Given the description of an element on the screen output the (x, y) to click on. 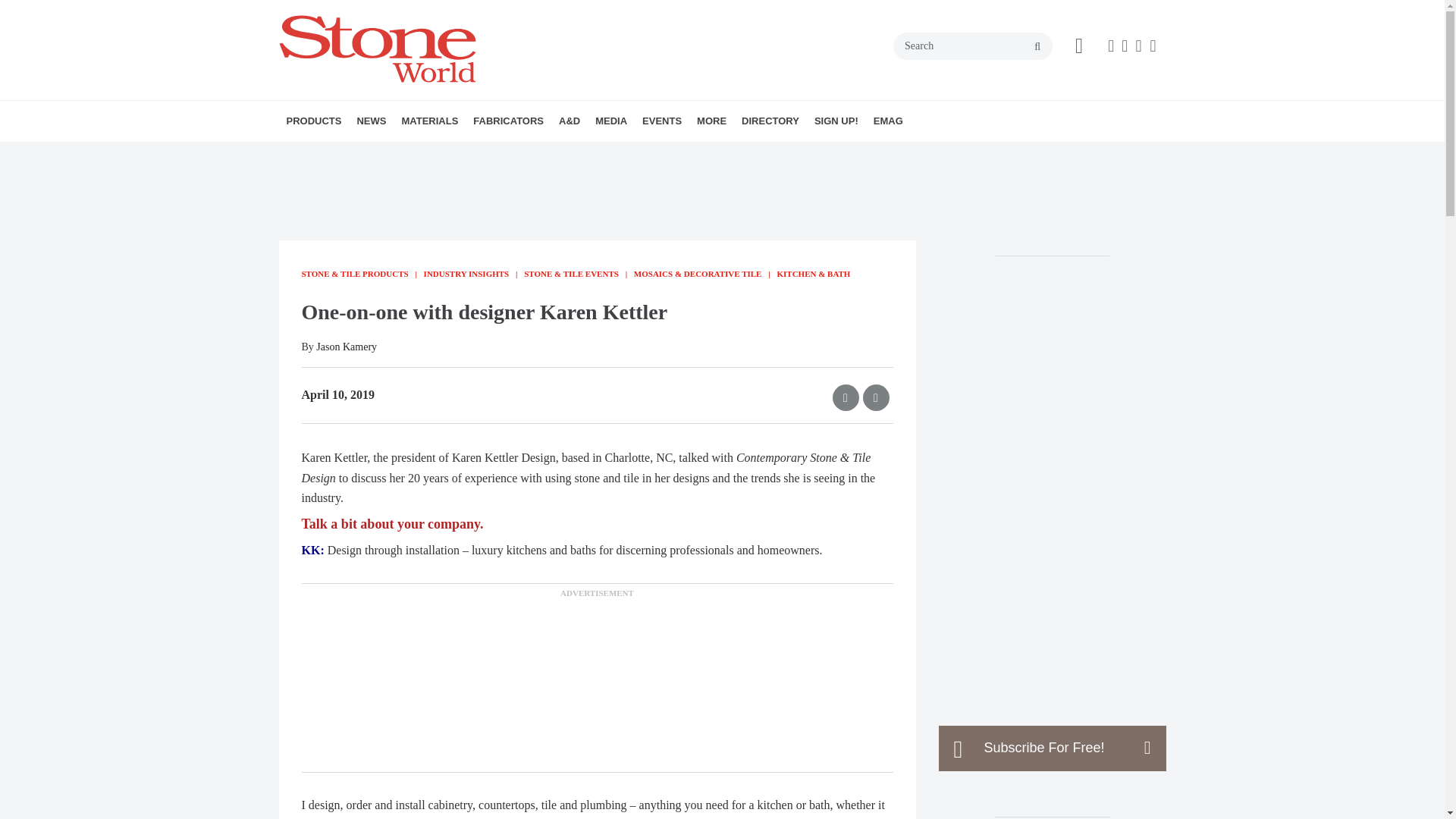
OUTDOOR DESIGN (653, 154)
TILE (501, 154)
search (1037, 46)
PODCASTS (689, 154)
Search (972, 45)
EBOOK (695, 154)
STONE (496, 154)
ALTERNATIVE SURFACES (488, 154)
VIDEOS (682, 154)
youtube (1153, 45)
FABRICATORS (508, 120)
MEDIA (611, 120)
MATERIALS (429, 120)
FABRICATOR HOW-TO (560, 154)
linkedin (1138, 45)
